Given the description of an element on the screen output the (x, y) to click on. 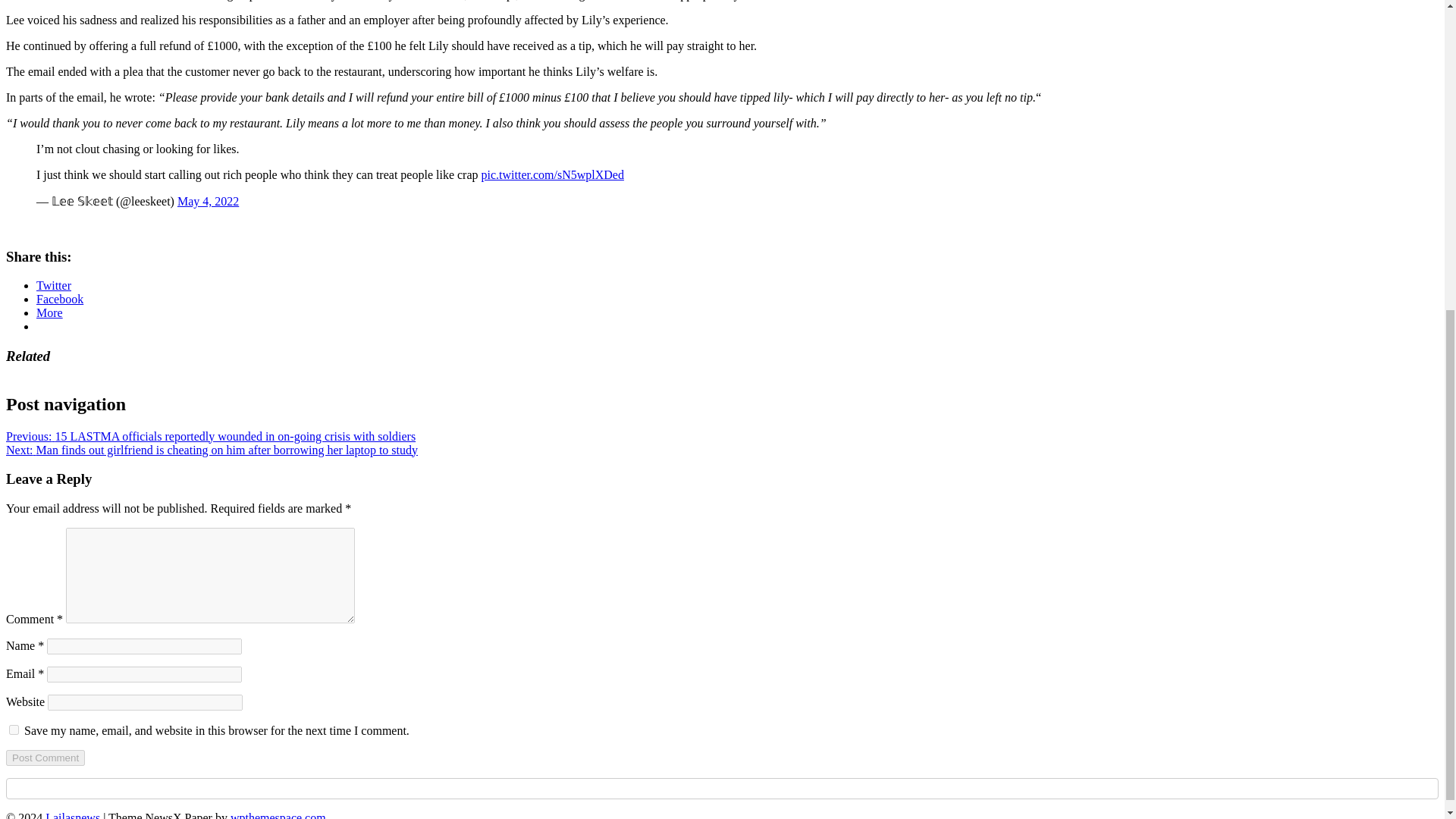
Post Comment (44, 757)
More (49, 312)
Twitter (53, 285)
Post Comment (44, 757)
May 4, 2022 (207, 201)
yes (13, 729)
Facebook (59, 298)
Click to share on Twitter (53, 285)
Click to share on Facebook (59, 298)
